Given the description of an element on the screen output the (x, y) to click on. 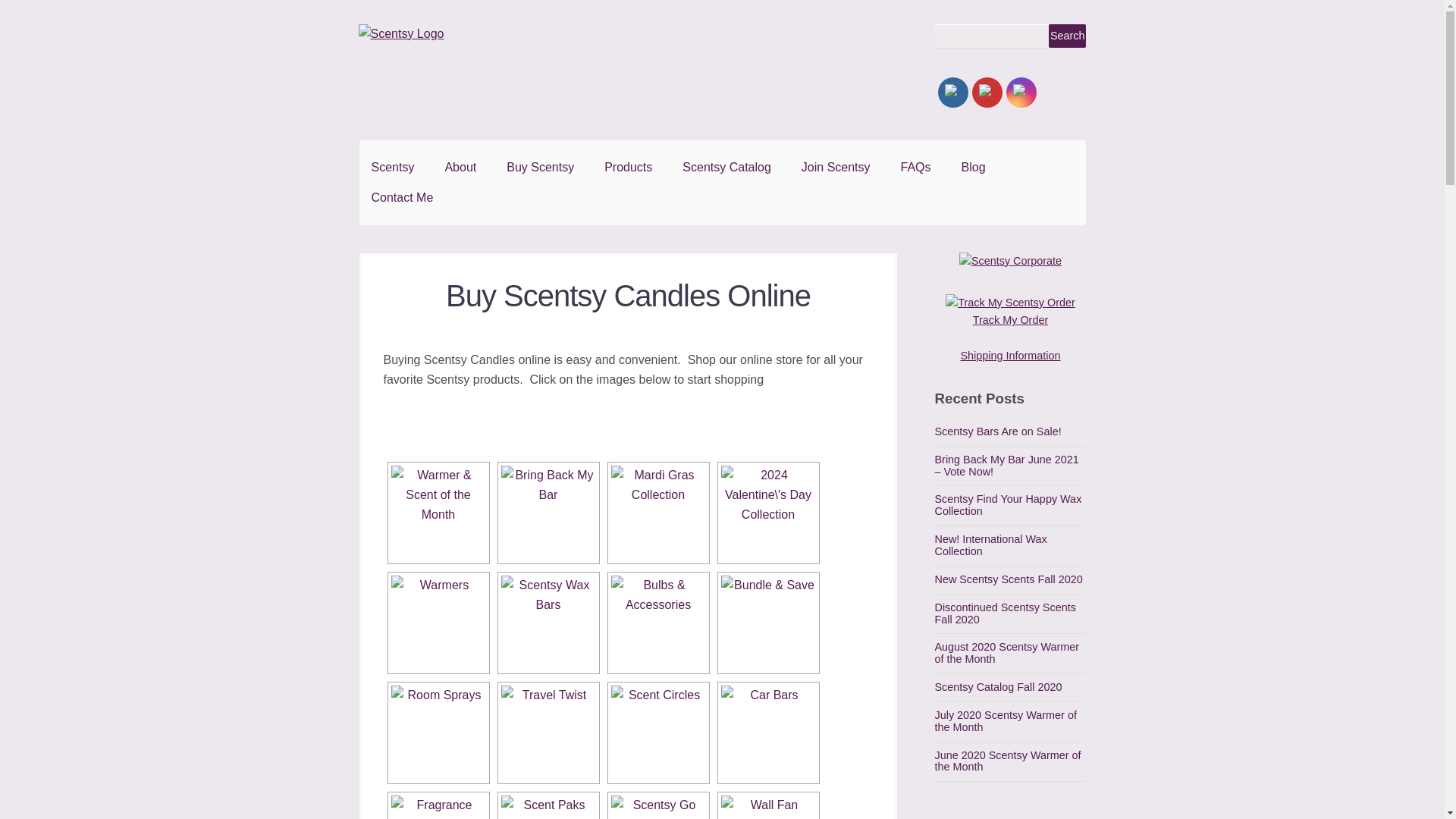
Pinterest (986, 92)
Buy Scentsy (540, 167)
Instagram (1021, 92)
Bring Back My Bar (547, 513)
Products (627, 167)
Scentsy (392, 167)
Warmers (438, 622)
About (459, 167)
Search (1067, 35)
Search (1067, 35)
